Given the description of an element on the screen output the (x, y) to click on. 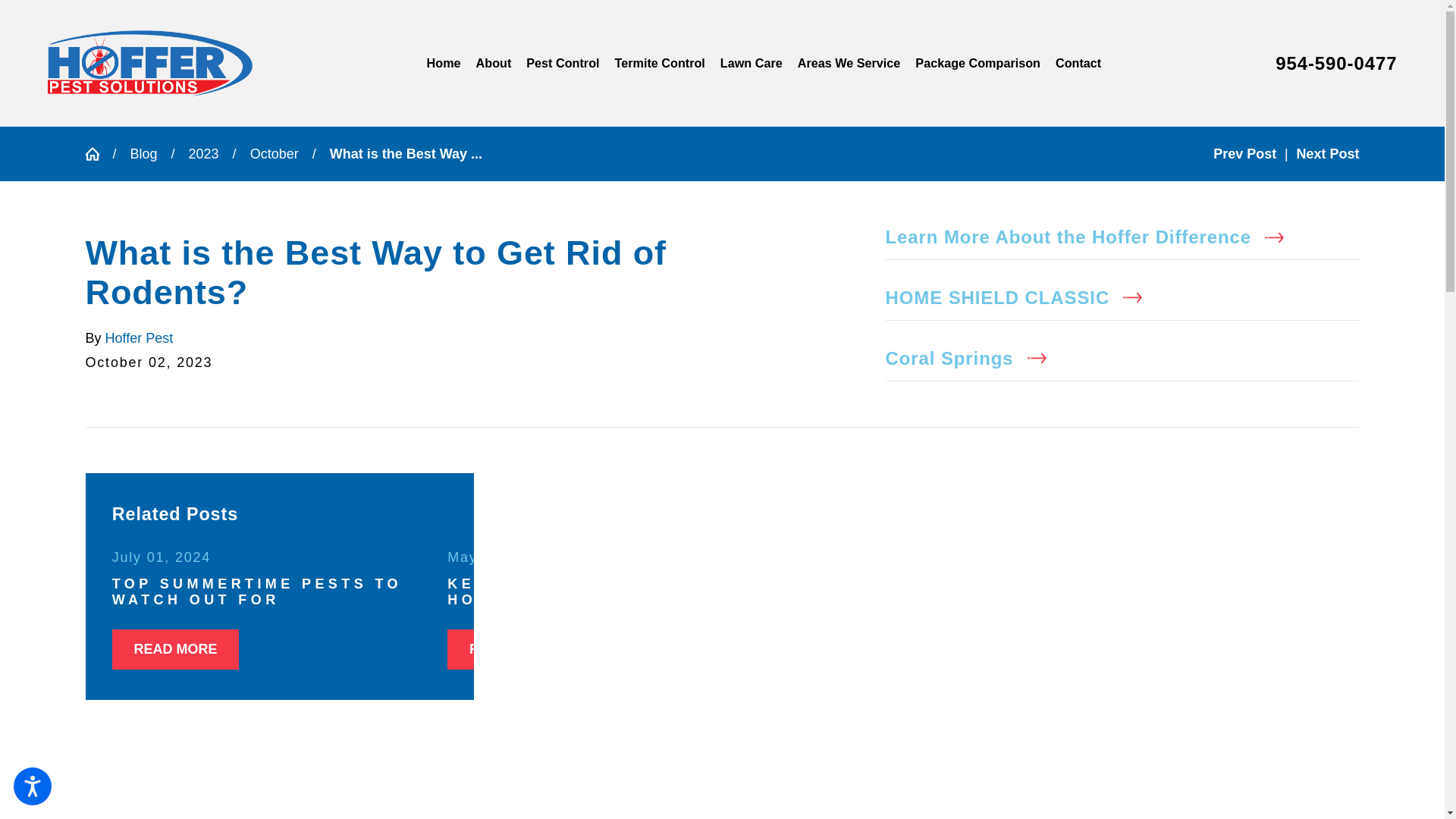
Hoffer Pest Solutions (149, 63)
Home (447, 63)
Termite Control (660, 63)
Open the accessibility options menu (31, 786)
About (493, 63)
Pest Control (562, 63)
Go Home (98, 153)
